Given the description of an element on the screen output the (x, y) to click on. 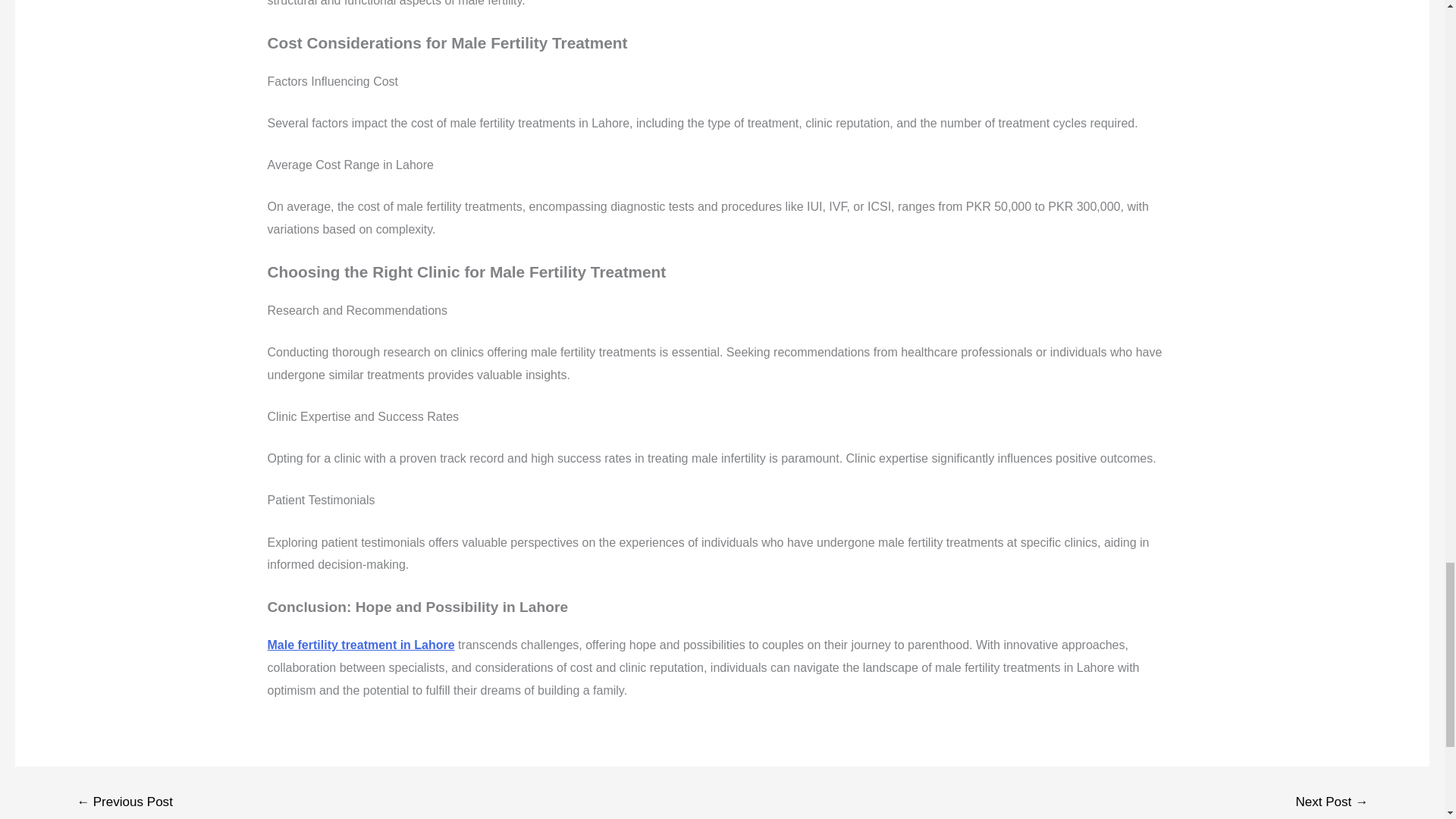
Male fertility treatment in Lahore (360, 644)
